Given the description of an element on the screen output the (x, y) to click on. 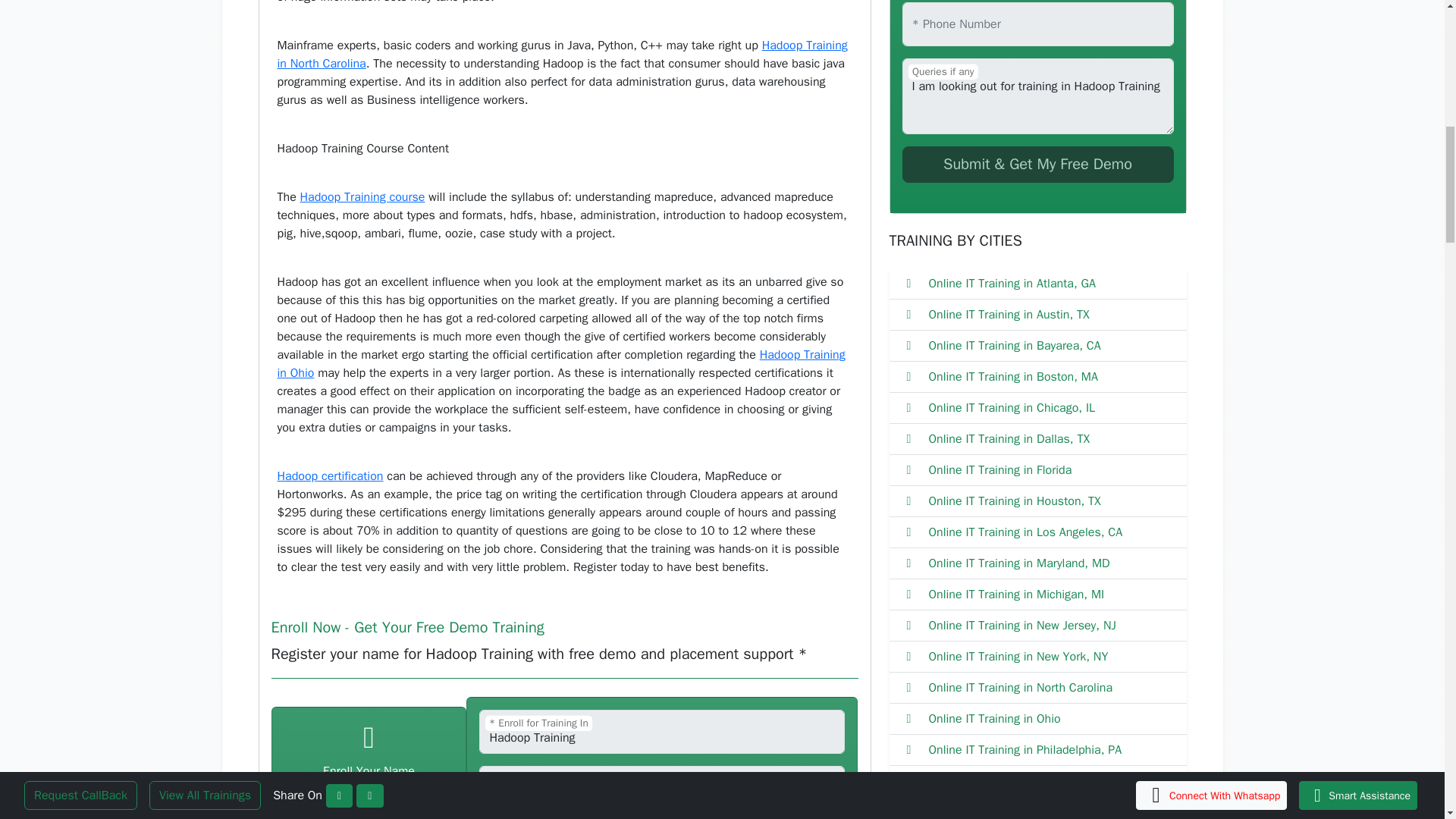
Hadoop Training in North Carolina (562, 54)
Hadoop Training in Ohio (561, 363)
Hadoop Training in North Carolina (562, 54)
Get Hadoop Training Free Demo Training (1037, 164)
Hadoop Training (661, 731)
Hadoop Training in Ohio (561, 363)
Hadoop certification (331, 476)
Hadoop certification (331, 476)
Hadoop Training course (362, 196)
Hadoop Training course (362, 196)
